Given the description of an element on the screen output the (x, y) to click on. 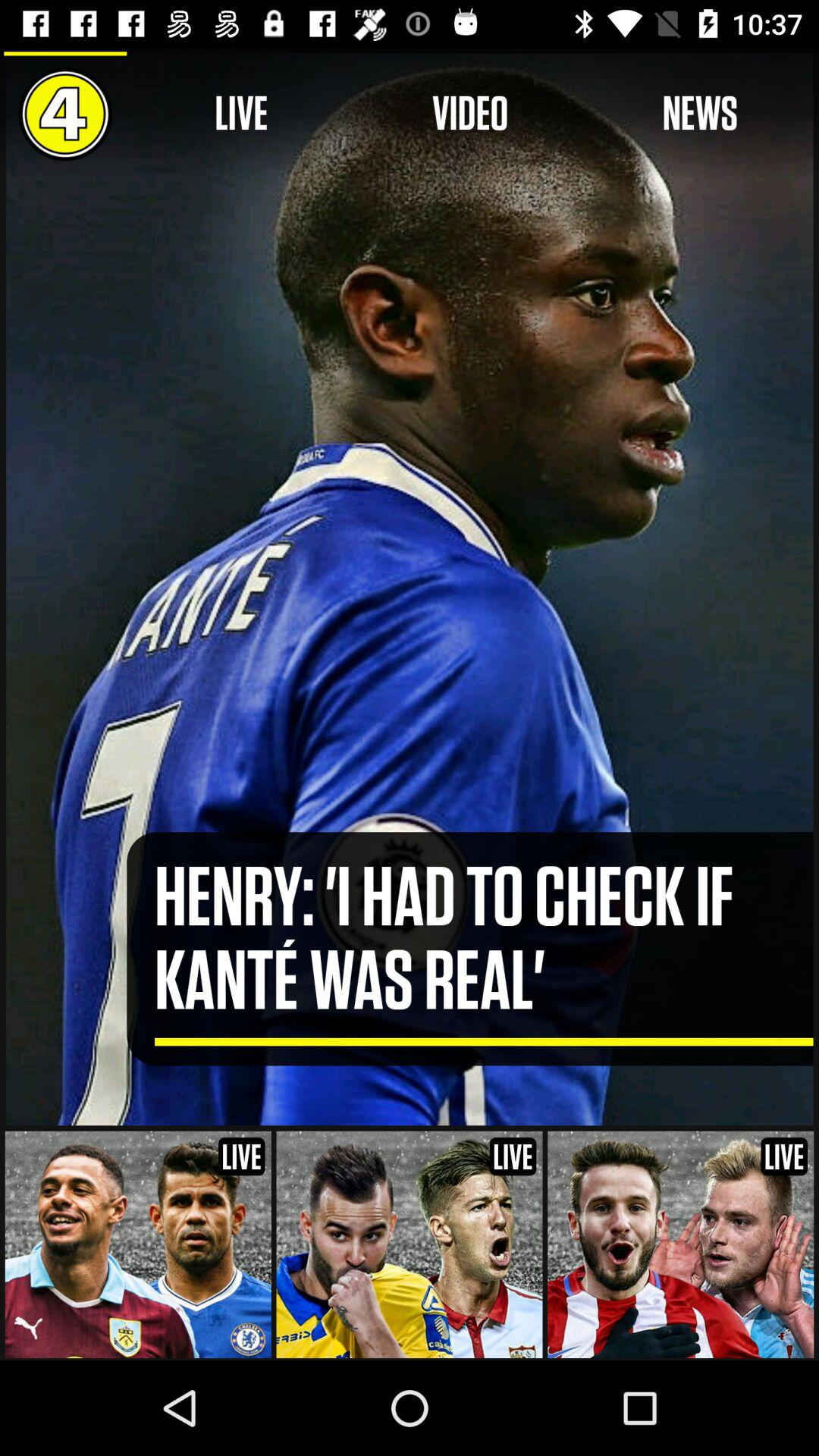
select the option beside the number 4 (241, 113)
click on the text left to the text news (470, 113)
select news on top right corner of the screen (699, 113)
